Given the description of an element on the screen output the (x, y) to click on. 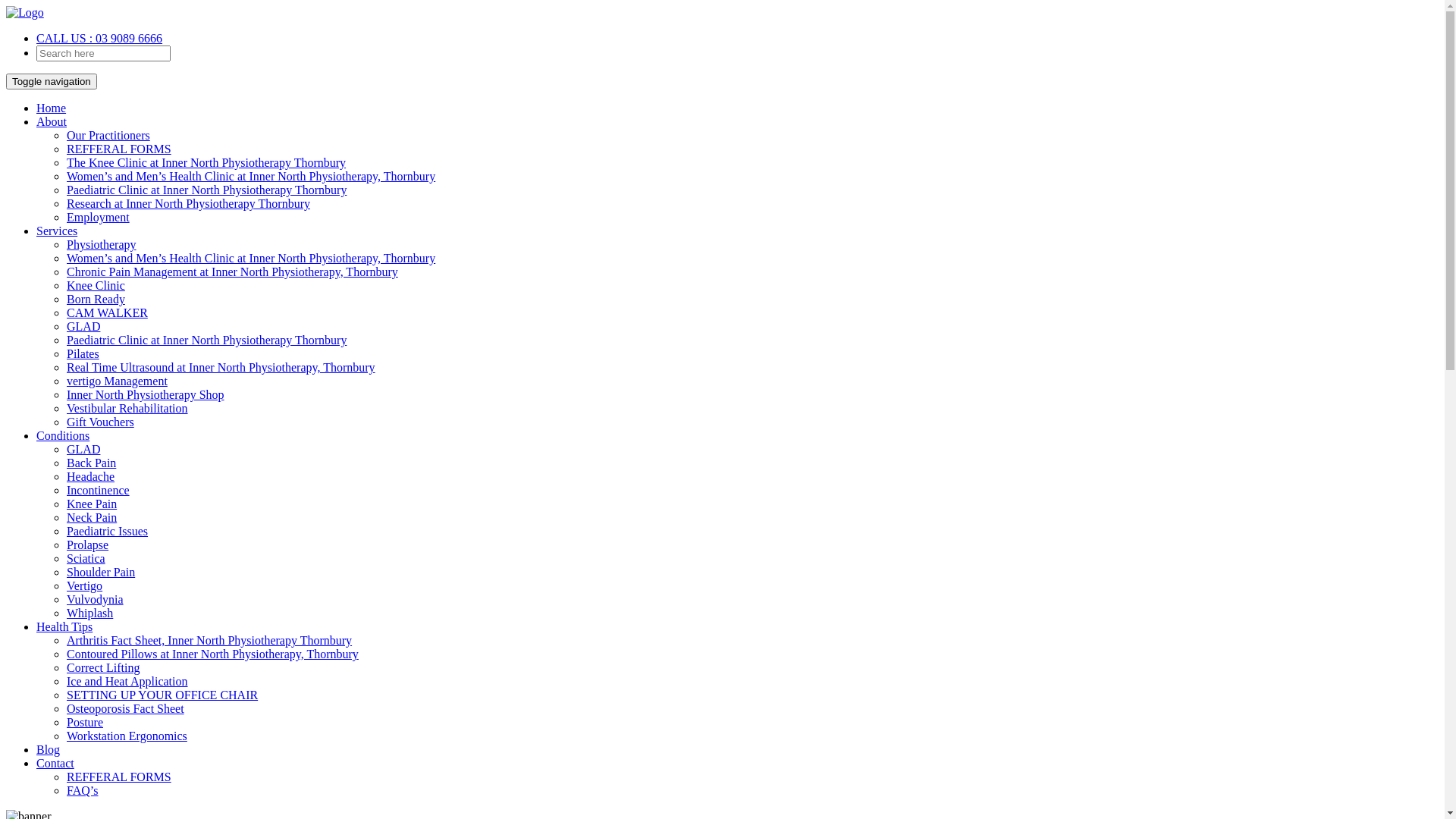
Real Time Ultrasound at Inner North Physiotherapy, Thornbury Element type: text (220, 366)
Paediatric Clinic at Inner North Physiotherapy Thornbury Element type: text (206, 339)
Correct Lifting Element type: text (102, 667)
CALL US : 03 9089 6666 Element type: text (99, 37)
Ice and Heat Application Element type: text (127, 680)
Contoured Pillows at Inner North Physiotherapy, Thornbury Element type: text (212, 653)
Knee Clinic Element type: text (95, 285)
Toggle navigation Element type: text (51, 81)
Contact Element type: text (55, 762)
Whiplash Element type: text (89, 612)
Prolapse Element type: text (87, 544)
The Knee Clinic at Inner North Physiotherapy Thornbury Element type: text (205, 162)
Headache Element type: text (90, 476)
Home Element type: text (50, 107)
Shoulder Pain Element type: text (100, 571)
Knee Pain Element type: text (91, 503)
Vertigo Element type: text (84, 585)
CAM WALKER Element type: text (106, 312)
Services Element type: text (56, 230)
vertigo Management Element type: text (116, 380)
Blog Element type: text (47, 749)
Workstation Ergonomics Element type: text (126, 735)
Health Tips Element type: text (64, 626)
About Element type: text (51, 121)
Neck Pain Element type: text (91, 517)
Born Ready Element type: text (95, 298)
Paediatric Issues Element type: text (106, 530)
Posture Element type: text (84, 721)
Incontinence Element type: text (97, 489)
Vestibular Rehabilitation Element type: text (127, 407)
Back Pain Element type: text (91, 462)
REFFERAL FORMS Element type: text (118, 776)
REFFERAL FORMS Element type: text (118, 148)
Sciatica Element type: text (85, 558)
GLAD Element type: text (83, 448)
Research at Inner North Physiotherapy Thornbury Element type: text (188, 203)
Pilates Element type: text (82, 353)
Physiotherapy Element type: text (101, 244)
Conditions Element type: text (62, 435)
Our Practitioners Element type: text (108, 134)
GLAD Element type: text (83, 326)
Osteoporosis Fact Sheet Element type: text (125, 708)
Vulvodynia Element type: text (94, 599)
Arthritis Fact Sheet, Inner North Physiotherapy Thornbury Element type: text (208, 639)
Employment Element type: text (97, 216)
Paediatric Clinic at Inner North Physiotherapy Thornbury Element type: text (206, 189)
SETTING UP YOUR OFFICE CHAIR Element type: text (161, 694)
Gift Vouchers Element type: text (100, 421)
Inner North Physiotherapy Shop Element type: text (145, 394)
